Given the description of an element on the screen output the (x, y) to click on. 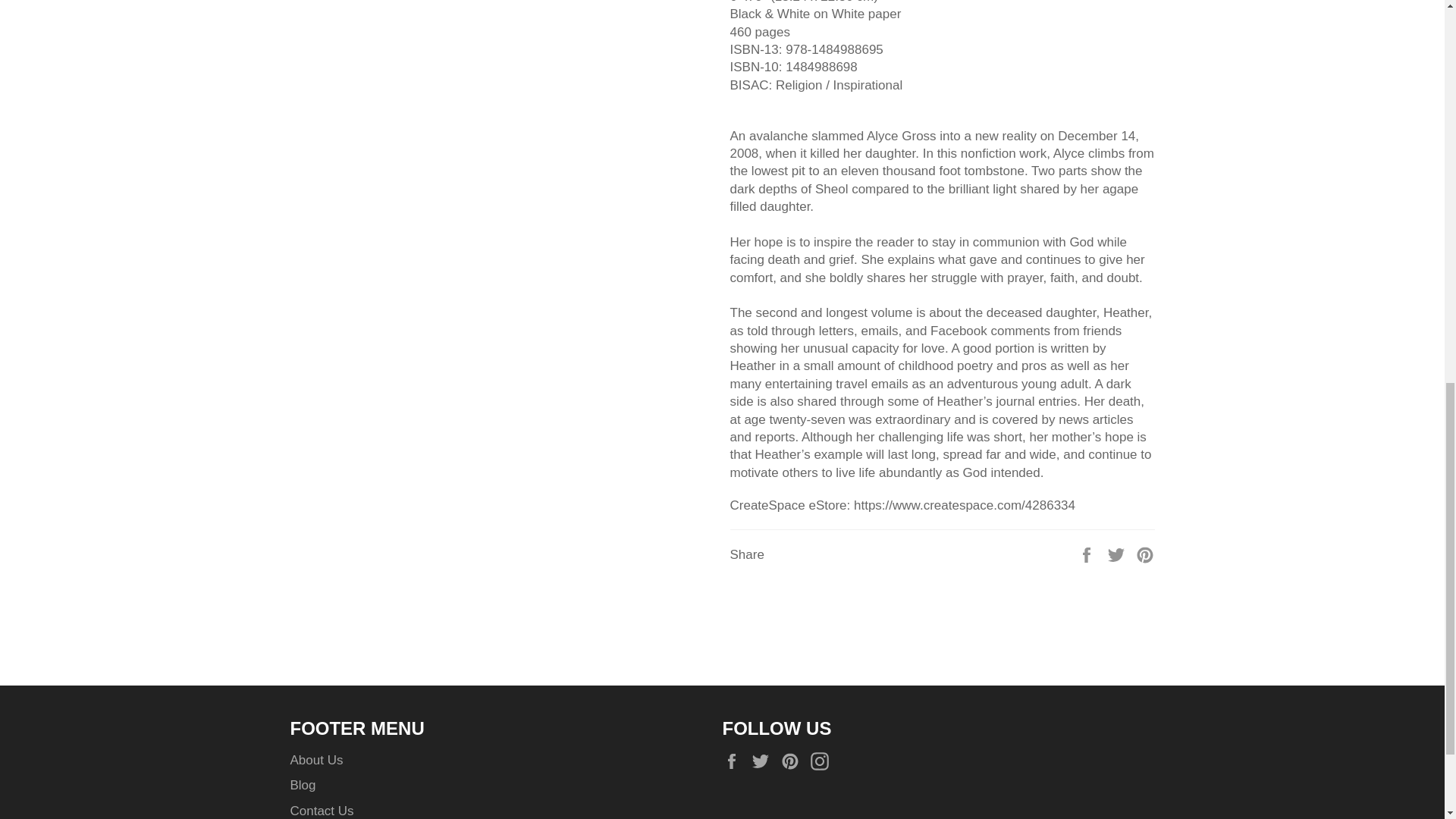
Pin on Pinterest (1144, 554)
Tweet on Twitter (1117, 554)
lighthousechristianpublishing on Pinterest (793, 760)
lighthousechristianpublishing on Instagram (822, 760)
lighthousechristianpublishing on Facebook (735, 760)
lighthousechristianpublishing on Twitter (764, 760)
Share on Facebook (1088, 554)
